Given the description of an element on the screen output the (x, y) to click on. 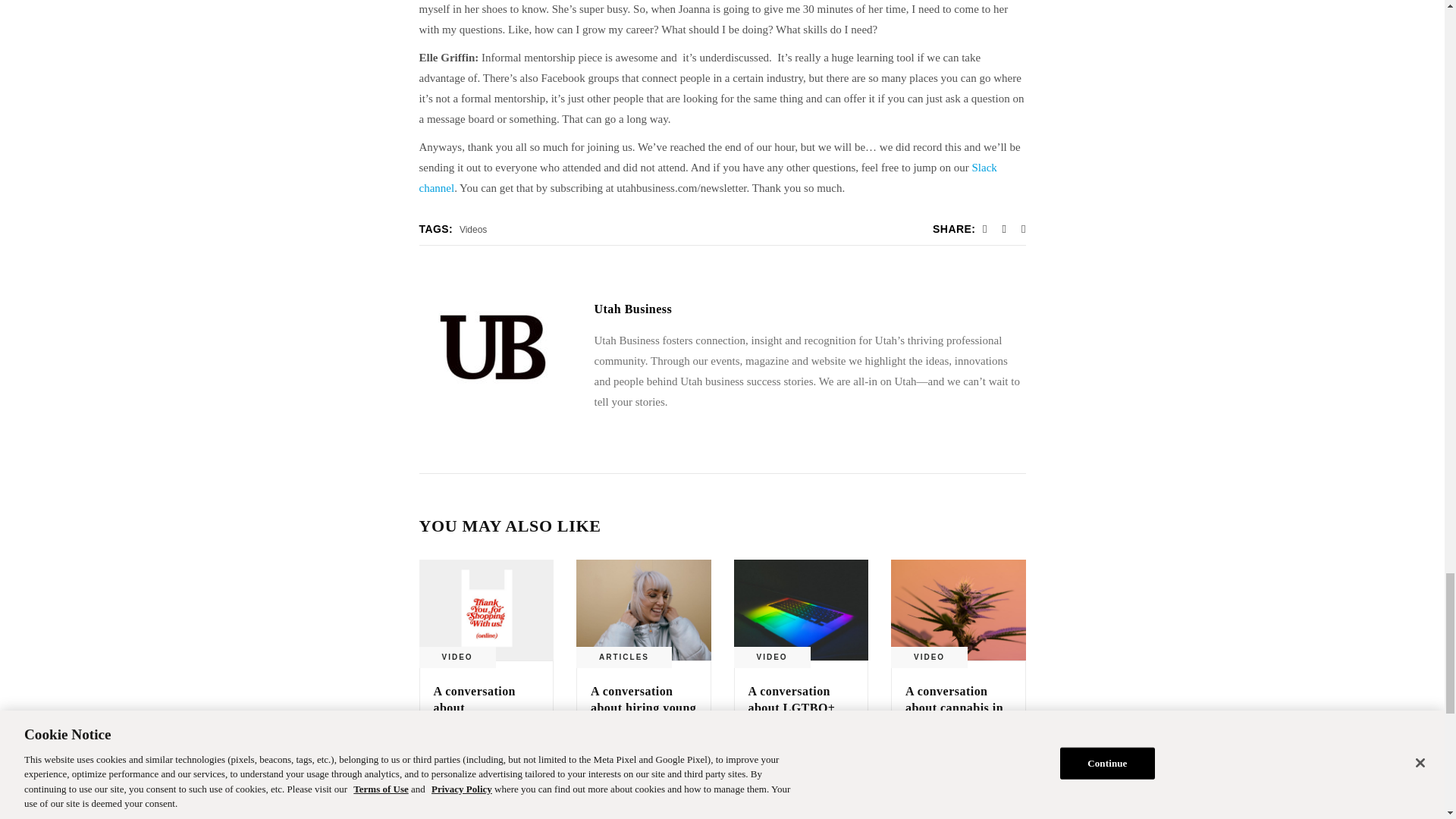
Utah Business (633, 308)
Slack channel (707, 177)
A conversation about cannabis in Utah (954, 708)
A conversation about transitioning to ecommerce (476, 716)
A conversation about cannabis in Utah (958, 609)
Videos (473, 229)
A conversation about hiring young talent (643, 708)
VIDEO (456, 657)
A conversation about women leadership (633, 308)
A conversation about transitioning to ecommerce (486, 609)
A conversation about women leadership (493, 347)
A conversation about hiring young talent (643, 609)
